Given the description of an element on the screen output the (x, y) to click on. 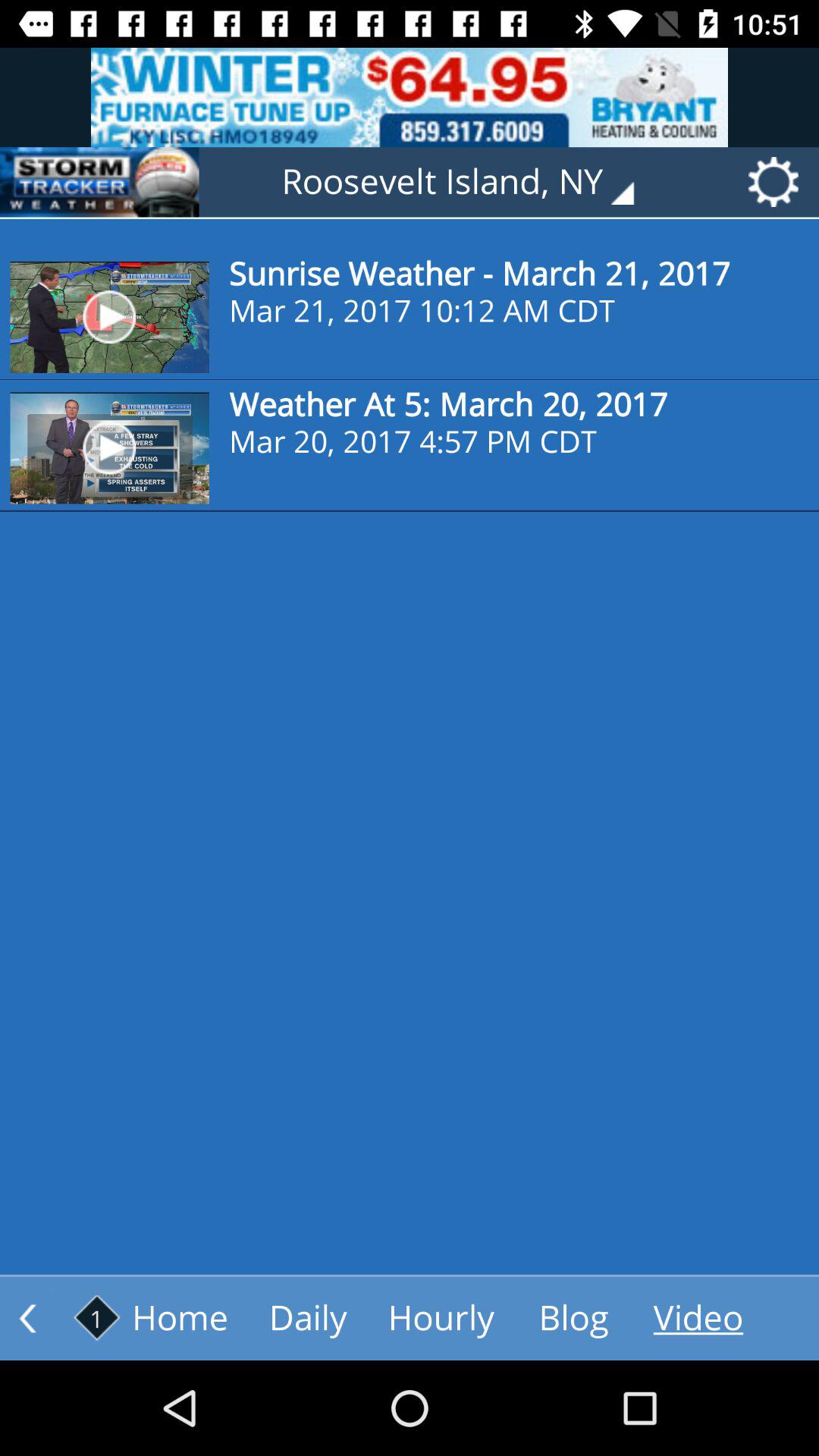
to return (27, 1318)
